Given the description of an element on the screen output the (x, y) to click on. 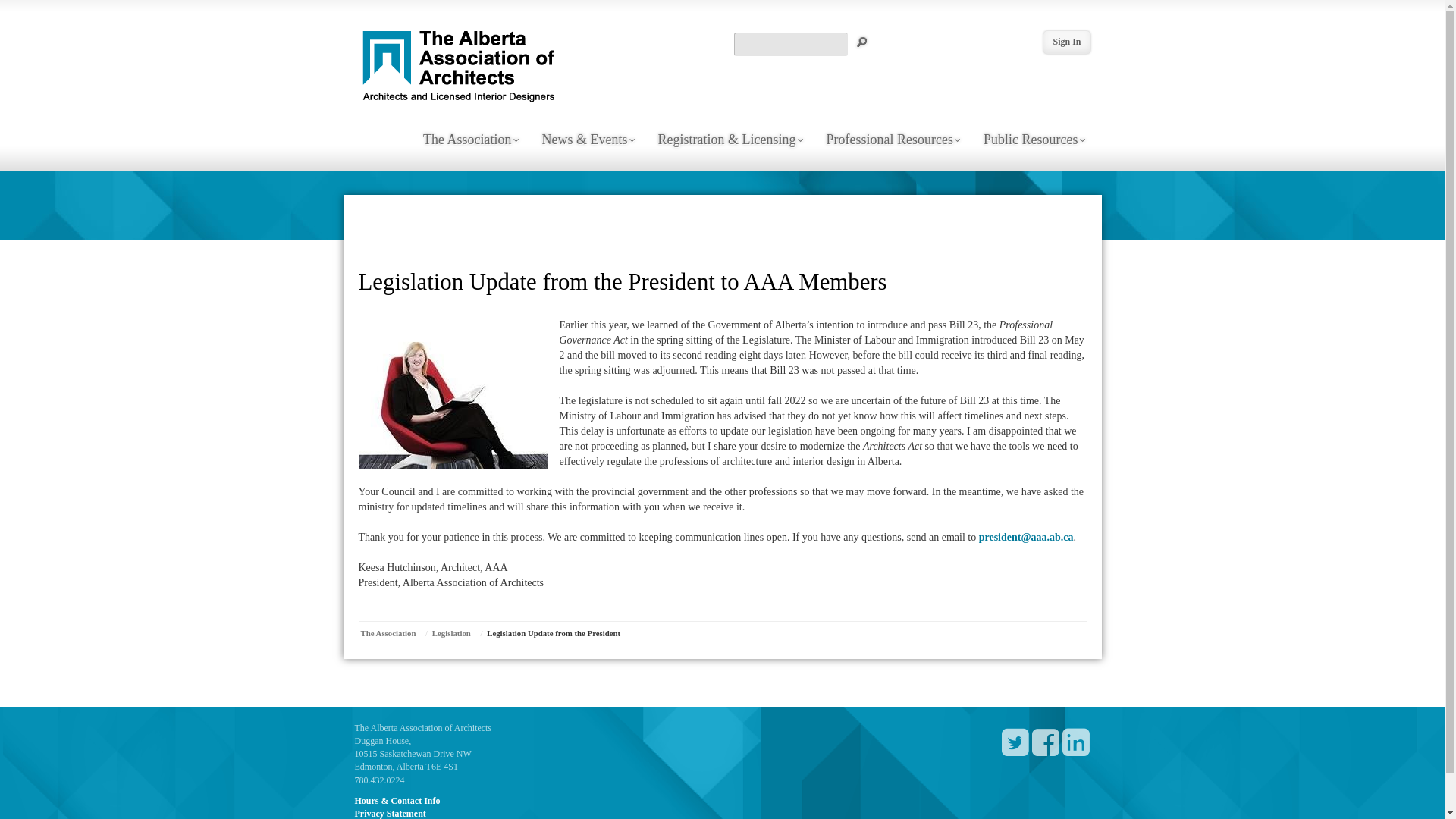
  Element type: text (1075, 750)
The Association Element type: text (390, 632)
president@aaa.ab.ca Element type: text (1026, 536)
Hours & Contact Info Element type: text (397, 800)
Search Element type: text (862, 42)
  Element type: text (1045, 750)
Sign In Element type: text (1066, 42)
Legislation Element type: text (453, 632)
  Element type: text (1015, 750)
